Given the description of an element on the screen output the (x, y) to click on. 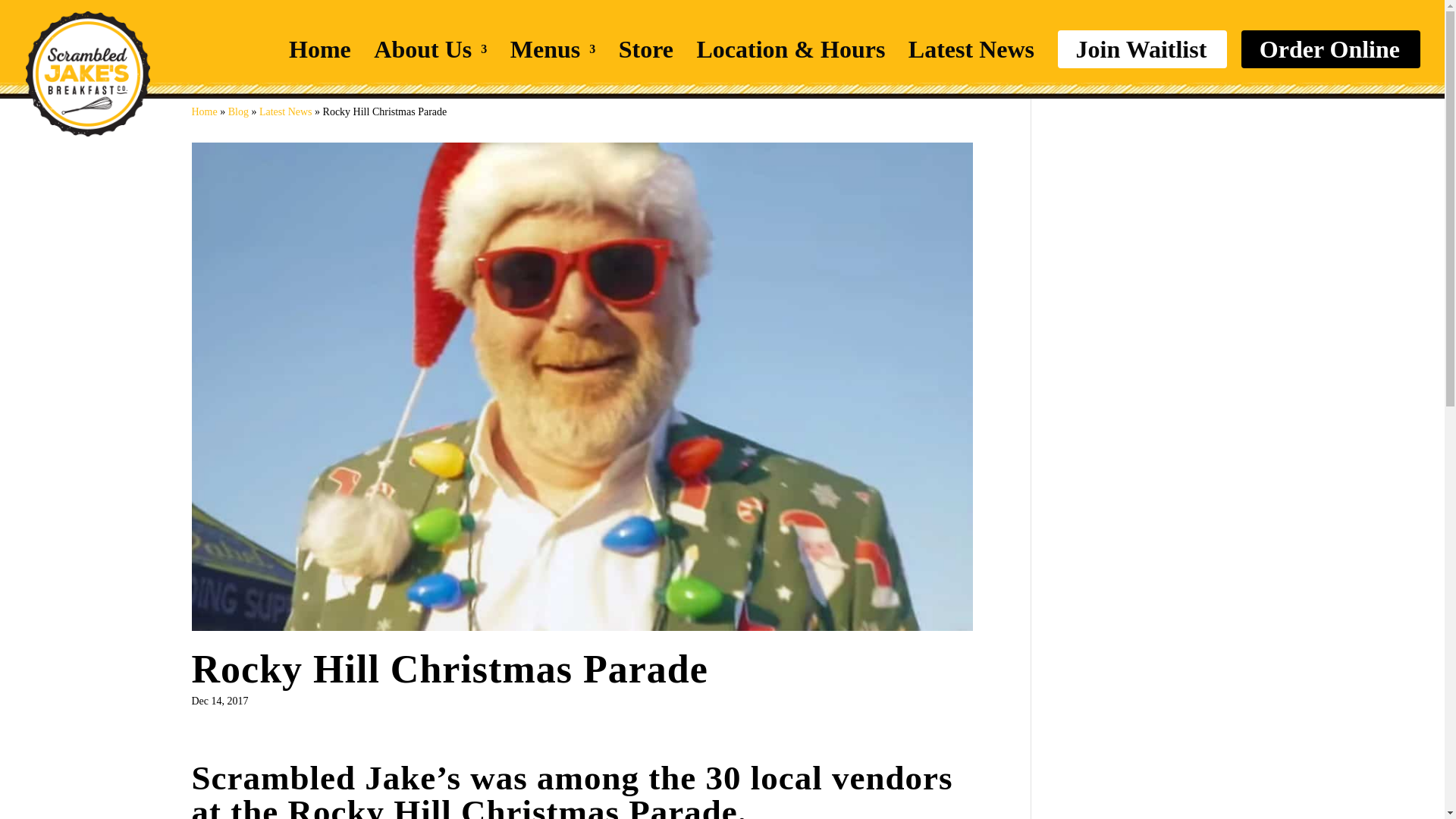
Store (645, 49)
Latest News (970, 49)
Menus (553, 49)
Latest News (286, 111)
Home (319, 49)
About Us (430, 49)
Home (203, 111)
Order Online (1329, 49)
Blog (238, 111)
Join Waitlist (1141, 49)
